Given the description of an element on the screen output the (x, y) to click on. 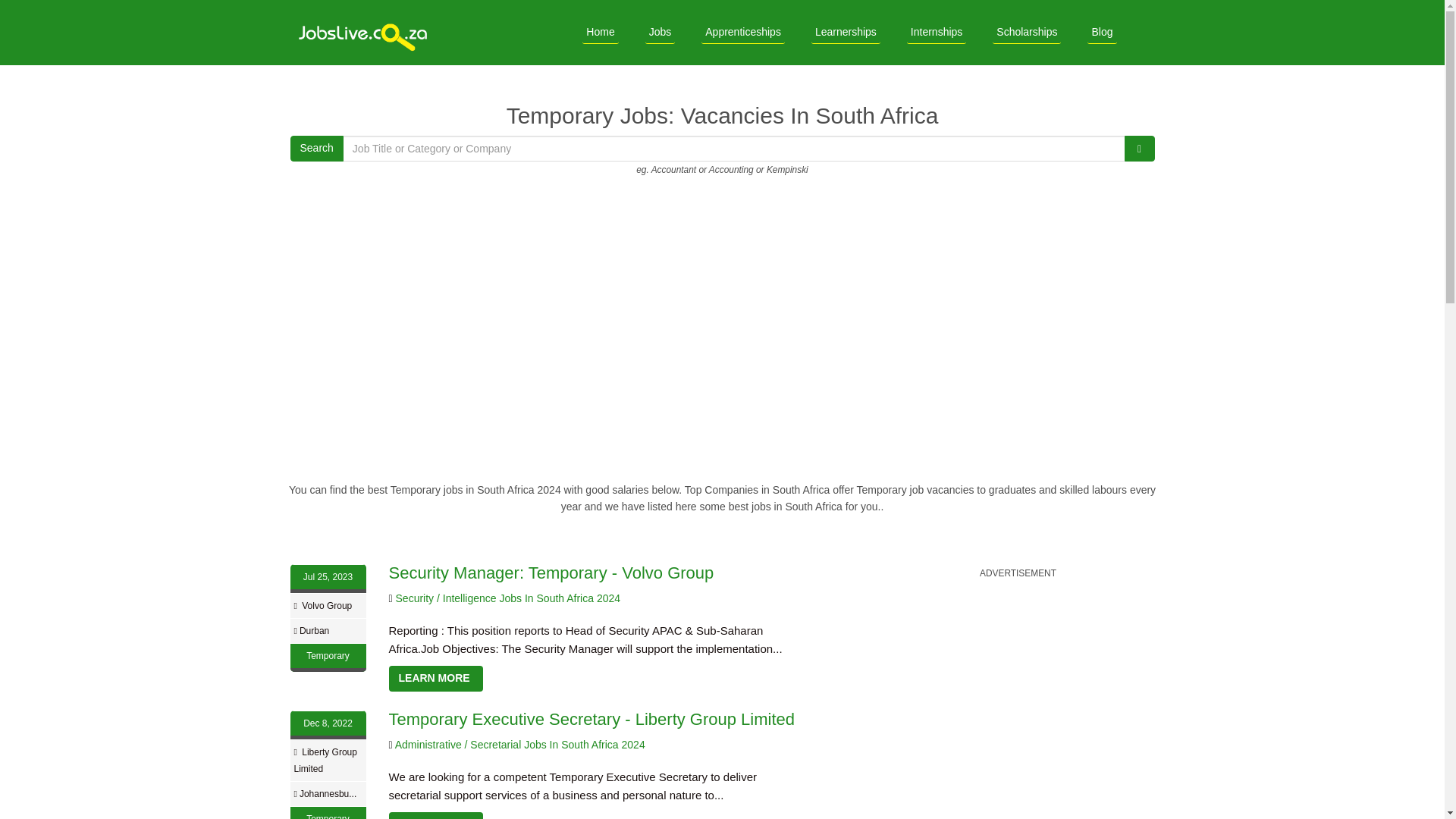
Durban (314, 630)
Apprenticeships (742, 32)
home (599, 32)
learnerships (845, 32)
Johannesbu... (327, 793)
LEARN MORE (434, 815)
Temporary Executive Secretary - Liberty Group Limited (591, 719)
internships (936, 32)
jobs in south africa (365, 33)
Search (315, 148)
Liberty Group Limited (325, 759)
Security Manager: Temporary - Volvo Group (550, 572)
Internships (936, 32)
apprenticeships (742, 32)
